Given the description of an element on the screen output the (x, y) to click on. 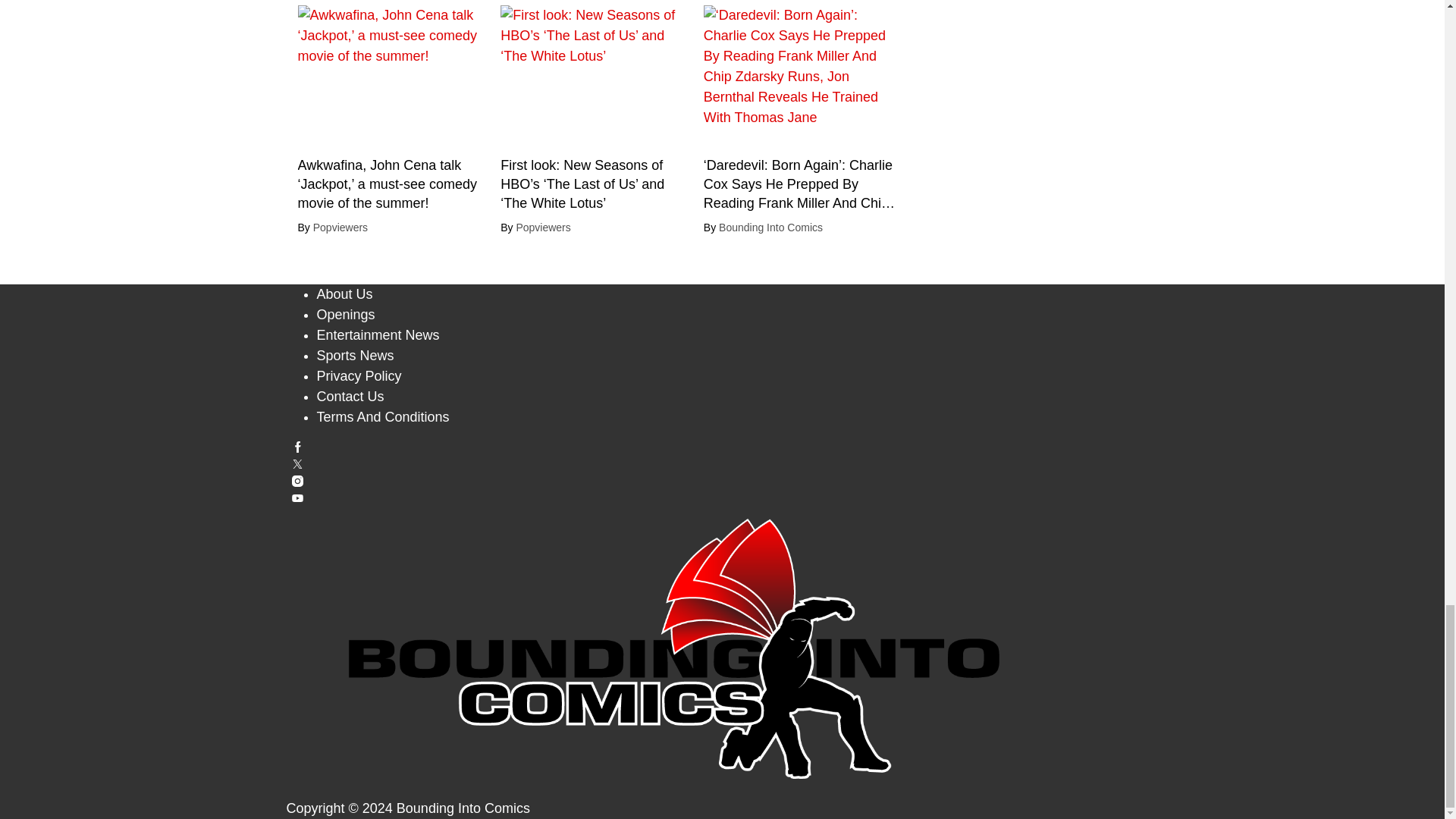
Follow us on Instagram (722, 480)
Follow us on Twitter (722, 464)
Follow us on Facebook (722, 446)
Subscribe to our YouTube channel (722, 498)
